Given the description of an element on the screen output the (x, y) to click on. 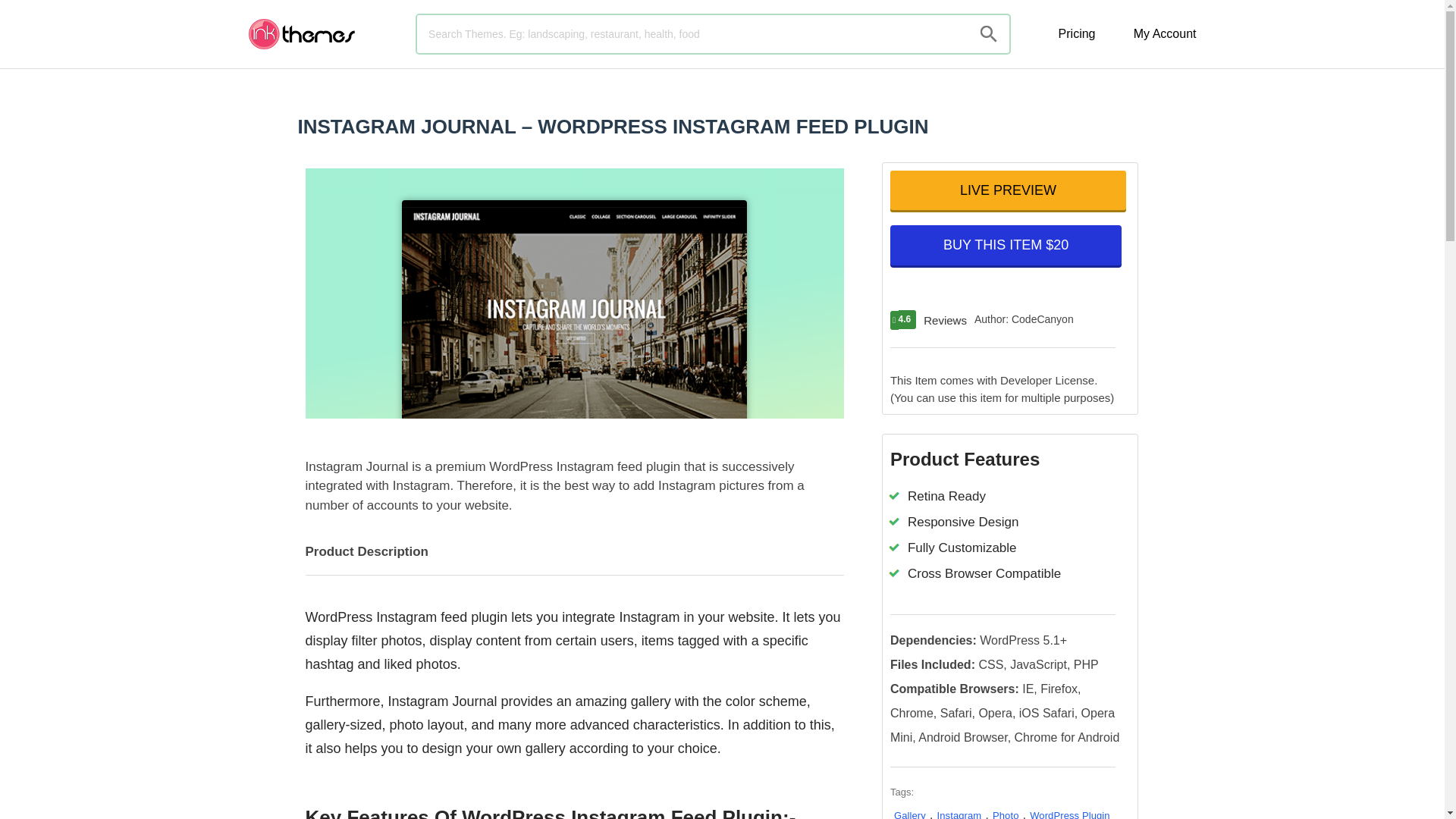
LIVE PREVIEW (1007, 189)
Pricing (1077, 33)
Instagram (959, 814)
Instagram (959, 814)
Photo (1004, 814)
Gallery (909, 814)
WordPress Plugin (1069, 814)
Photo (1004, 814)
My Account (1165, 33)
Gallery (909, 814)
WordPress Plugin (1069, 814)
